Given the description of an element on the screen output the (x, y) to click on. 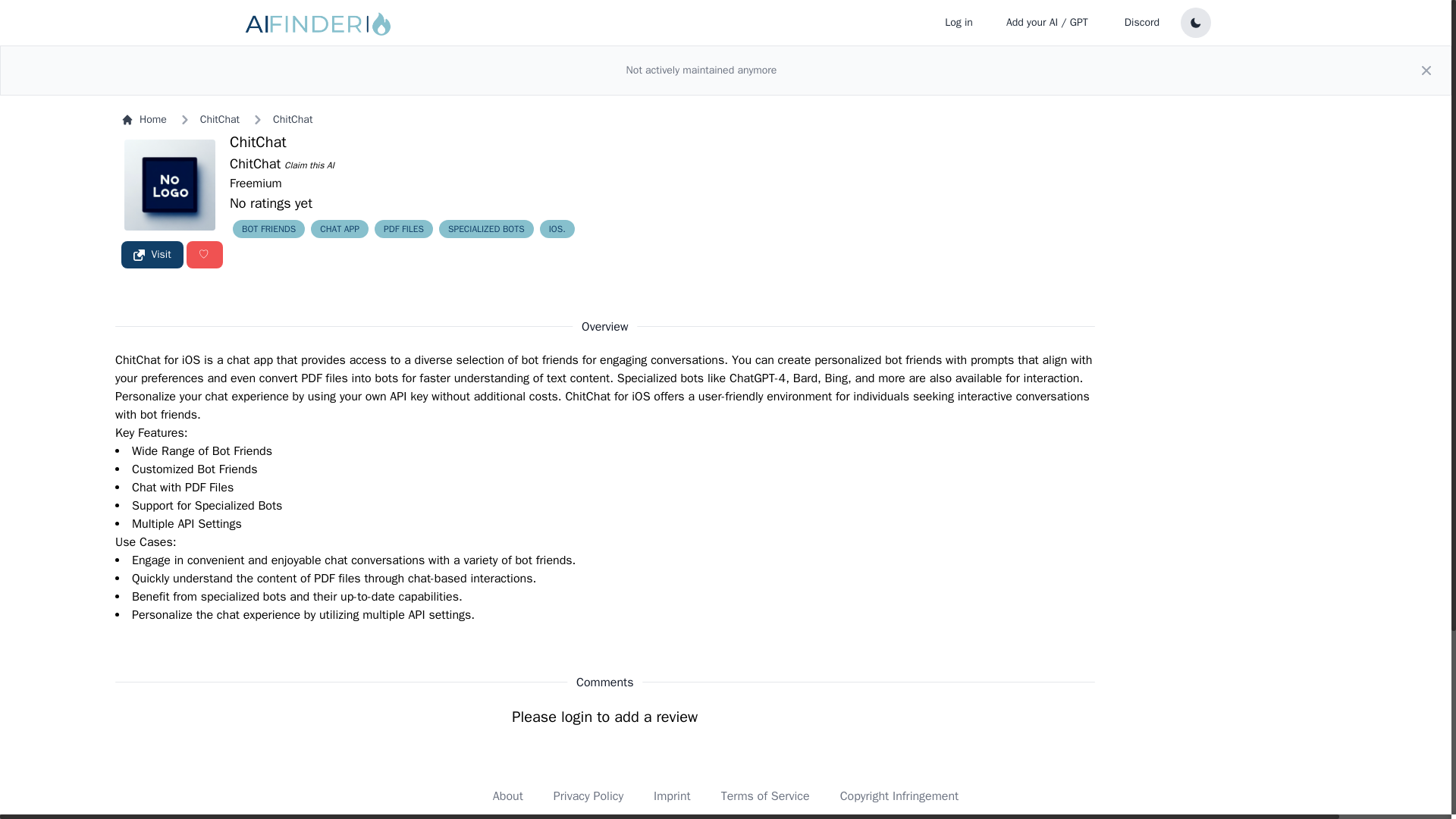
ChitChat (258, 141)
Copyright Infringement (899, 795)
IOS. (557, 229)
  Visit (151, 254)
ChitChat (293, 119)
Privacy Policy  (588, 795)
Discord (1141, 22)
Imprint (671, 795)
Privacy Policy (588, 795)
PDF FILES (403, 229)
About (507, 795)
CHAT APP (339, 229)
ChitChat (255, 163)
Please login to add a review (604, 717)
Home (143, 119)
